Given the description of an element on the screen output the (x, y) to click on. 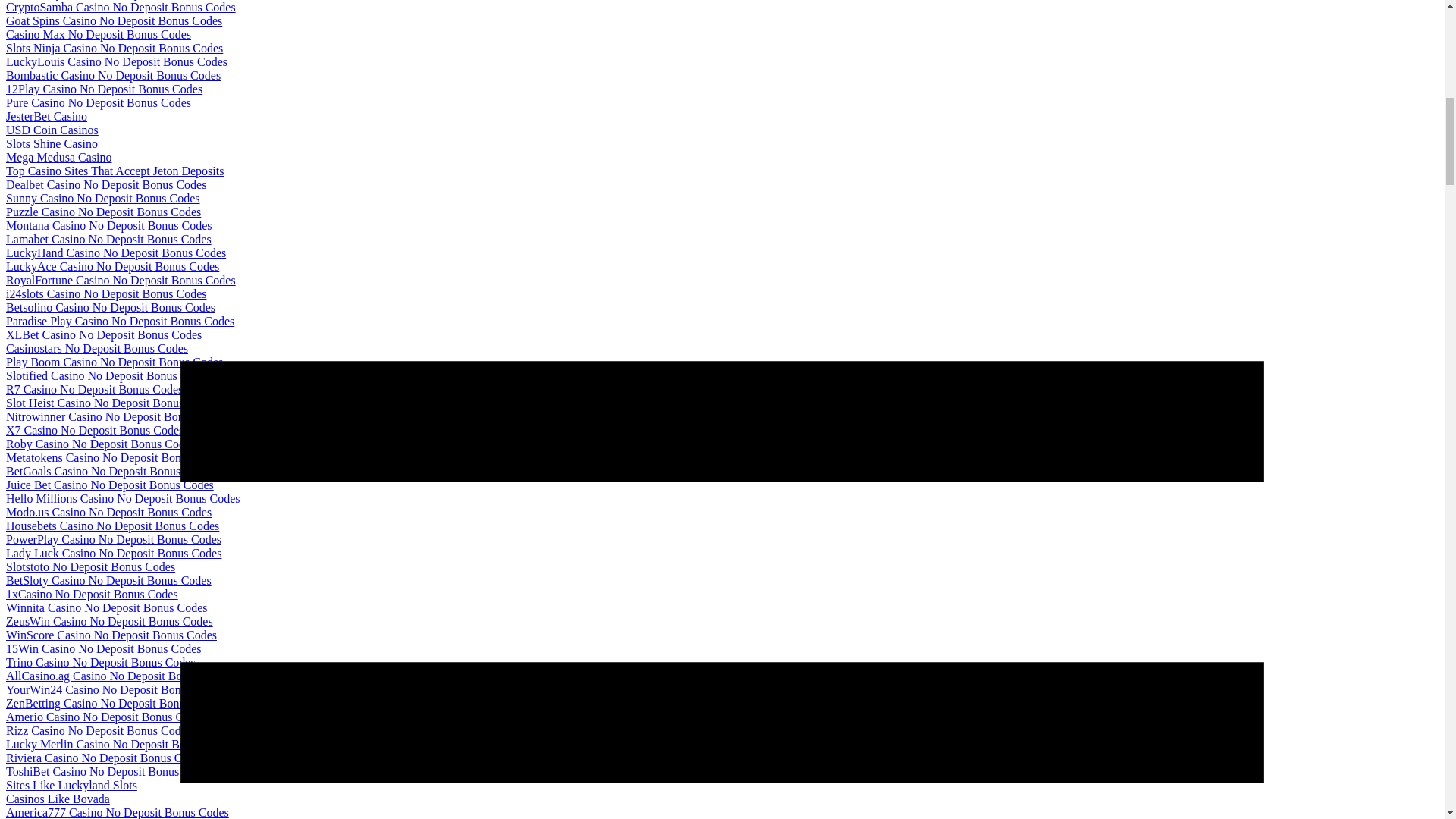
Play Now (27, 731)
JesterBet Casino (46, 115)
Bombastic Casino No Deposit Bonus Codes (113, 74)
Slots Shine Casino (51, 143)
Pure Casino No Deposit Bonus Codes (97, 102)
Casino Max No Deposit Bonus Codes (97, 33)
Slots Ninja Casino No Deposit Bonus Codes (113, 47)
Top Casino Sites That Accept Jeton Deposits (114, 170)
12Play Casino No Deposit Bonus Codes (103, 88)
Goat Spins Casino No Deposit Bonus Codes (113, 20)
